Given the description of an element on the screen output the (x, y) to click on. 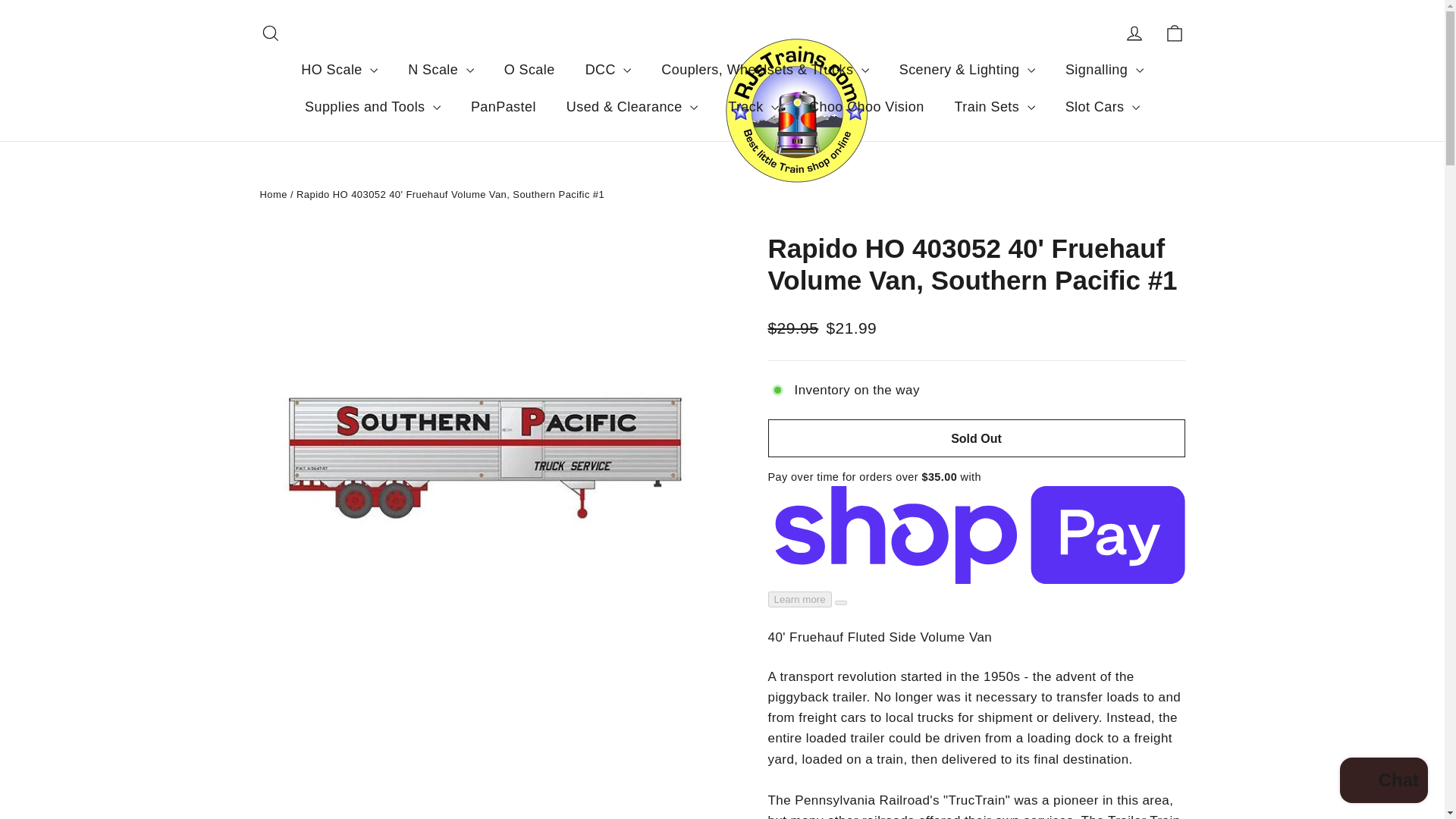
account (1134, 33)
Back to the frontpage (272, 194)
icon-bag-minimal (1174, 33)
icon-search (270, 33)
Shopify online store chat (1383, 781)
